Given the description of an element on the screen output the (x, y) to click on. 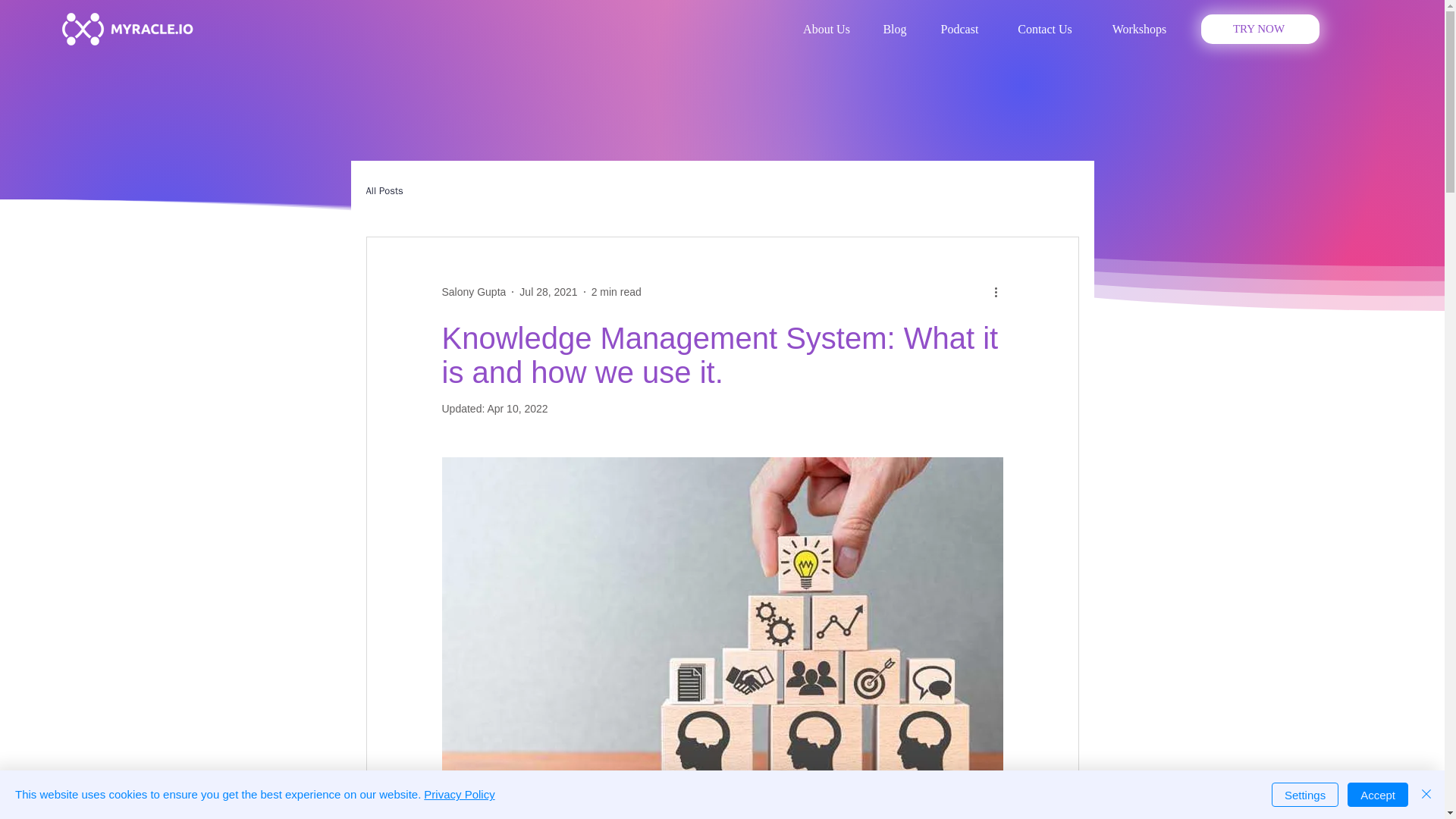
About Us (825, 29)
Contact Us (1044, 29)
2 min read (616, 291)
Salony Gupta (473, 291)
All Posts (384, 191)
Salony Gupta (473, 291)
TRY NOW (1260, 29)
Workshops (1139, 29)
Apr 10, 2022 (516, 408)
Podcast (959, 29)
Blog (894, 29)
Jul 28, 2021 (547, 291)
